Given the description of an element on the screen output the (x, y) to click on. 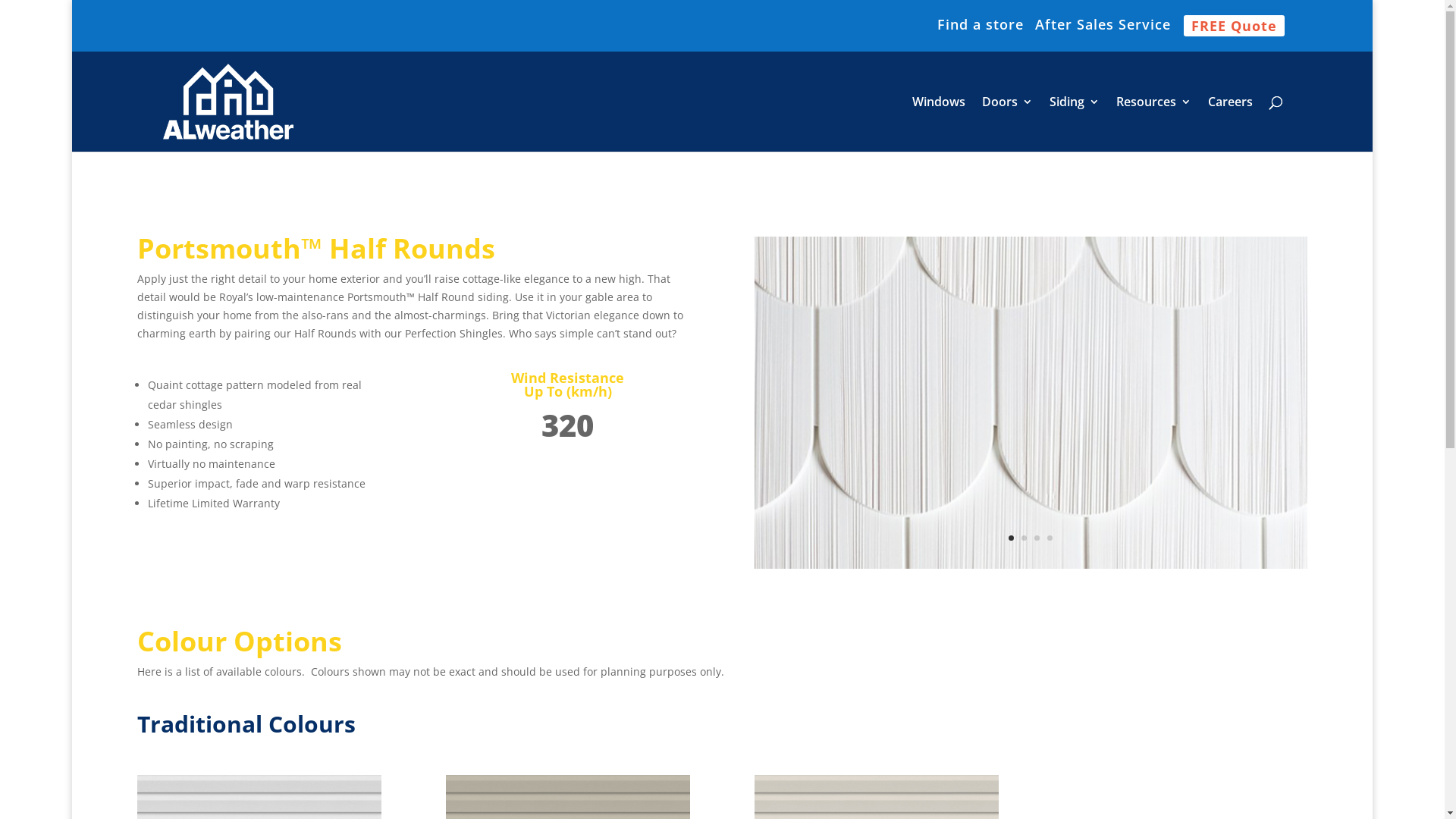
royal-portsmouth-half-rounds-800x480 Element type: hover (1030, 564)
2 Element type: text (1023, 537)
1 Element type: text (1010, 537)
Doors Element type: text (1007, 123)
After Sales Service Element type: text (1102, 29)
3 Element type: text (1036, 537)
Windows Element type: text (938, 123)
FREE Quote Element type: text (1233, 25)
Siding Element type: text (1074, 123)
4 Element type: text (1049, 537)
Careers Element type: text (1230, 123)
Resources Element type: text (1153, 123)
Find a store Element type: text (980, 29)
